Given the description of an element on the screen output the (x, y) to click on. 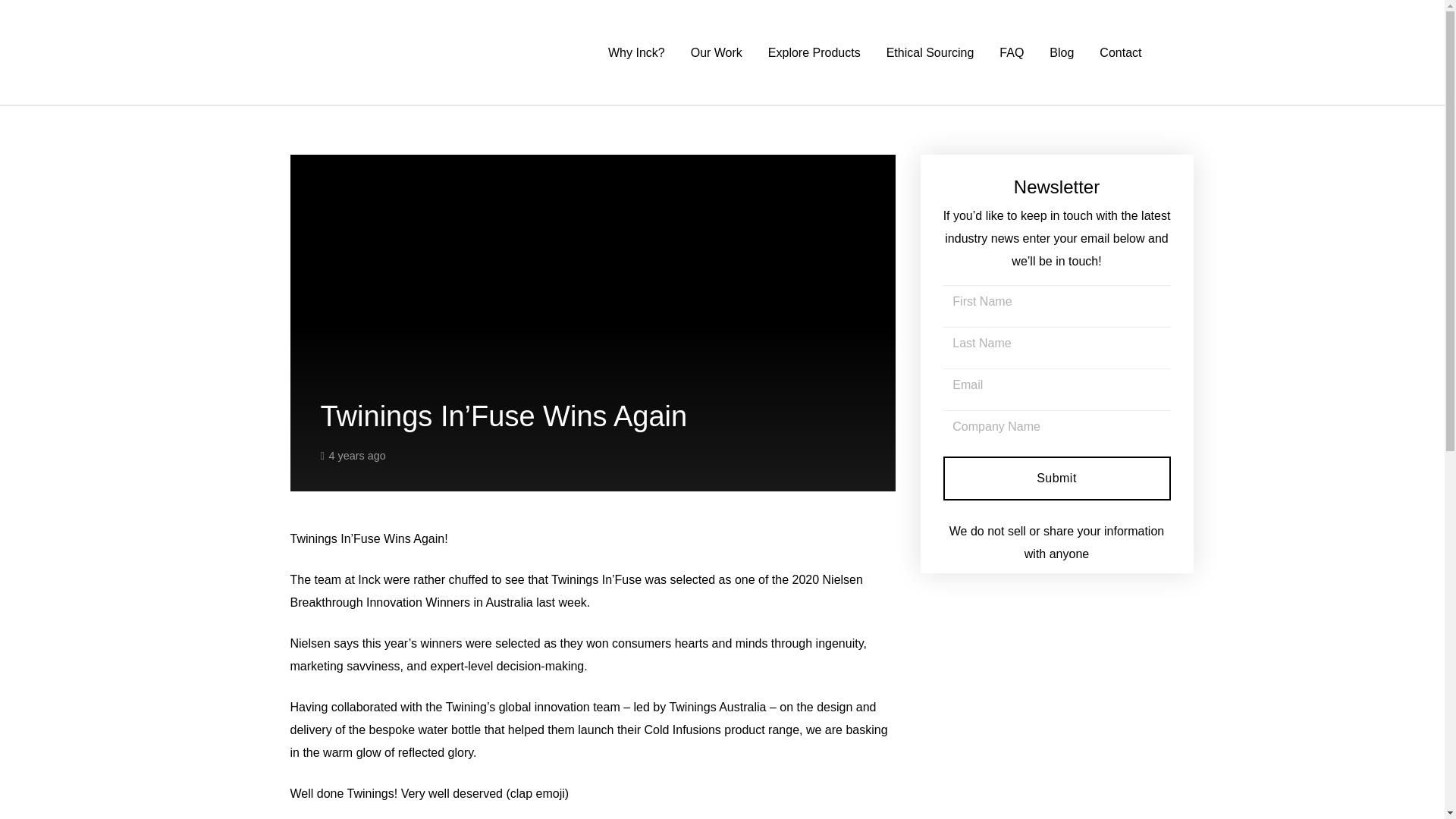
Submit (1056, 478)
Submit (1056, 478)
Twinings Australia (716, 707)
Explore Products (814, 53)
Inck (369, 579)
Ethical Sourcing (930, 53)
